Given the description of an element on the screen output the (x, y) to click on. 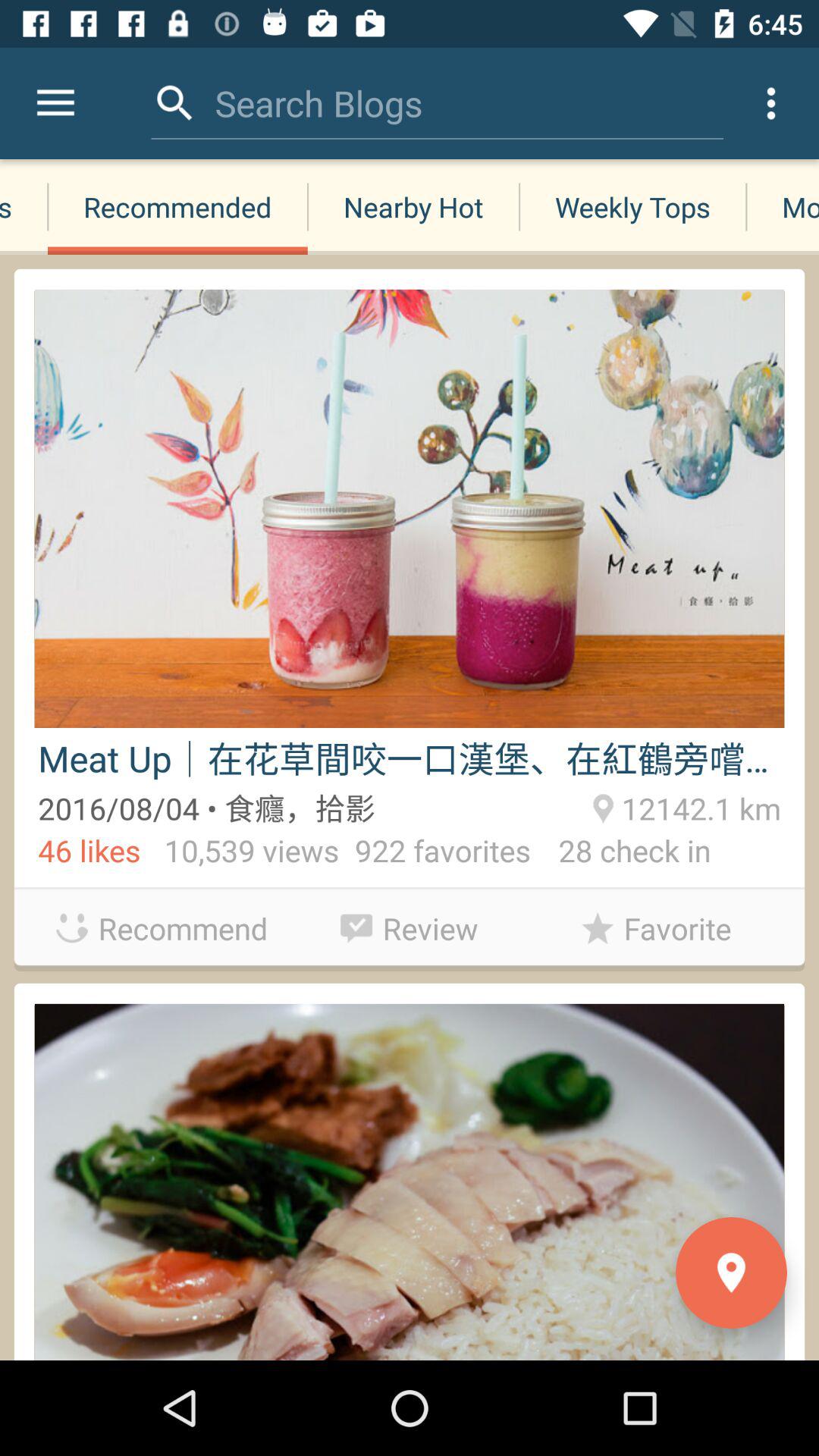
jump until the review app (409, 924)
